Given the description of an element on the screen output the (x, y) to click on. 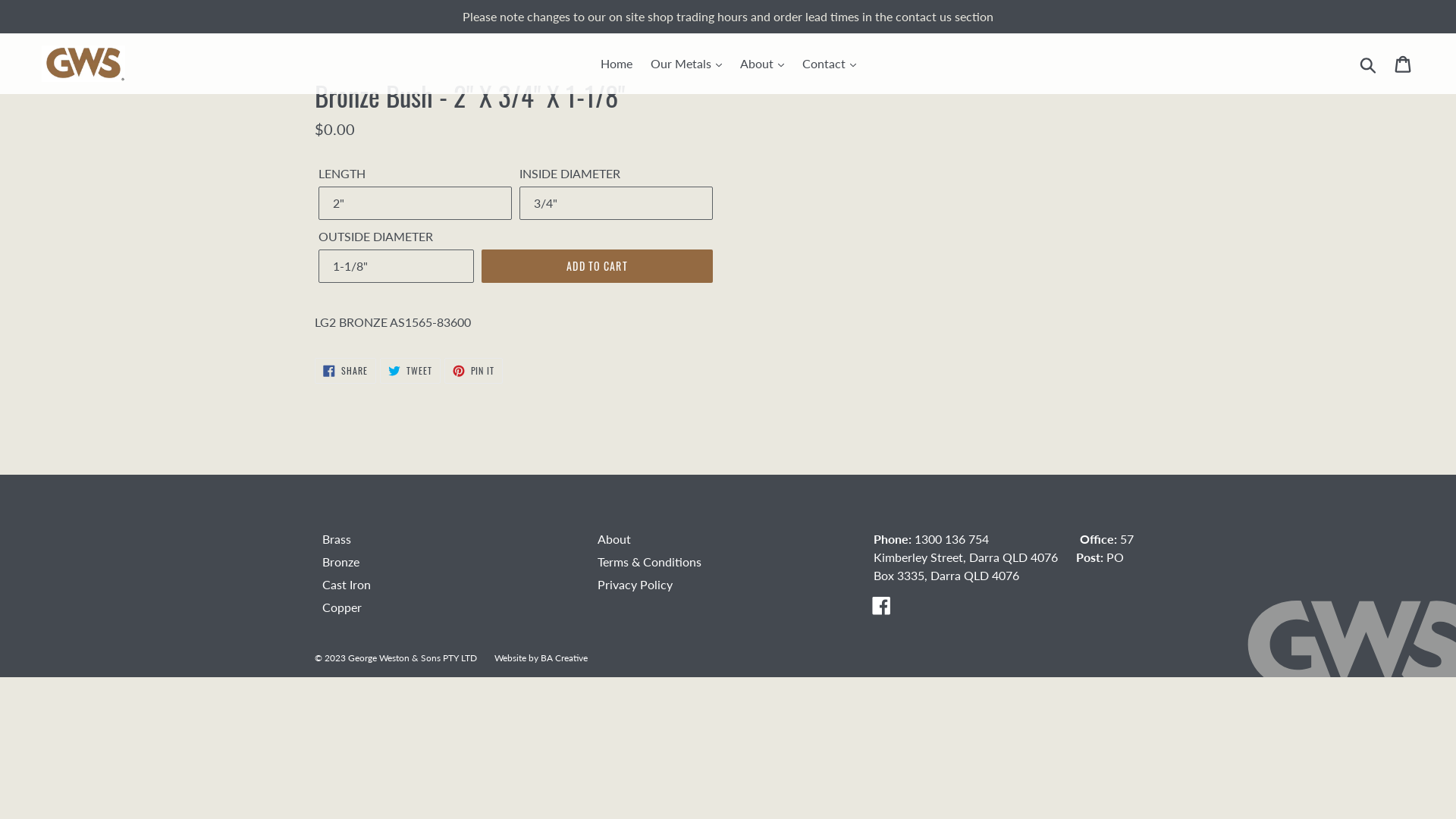
Brass Element type: text (336, 538)
Cart Element type: text (1403, 63)
Submit Element type: text (1368, 63)
TWEET
TWEET ON TWITTER Element type: text (409, 370)
Home Element type: text (616, 63)
Privacy Policy Element type: text (634, 584)
About Element type: text (613, 538)
Cast Iron Element type: text (346, 584)
ADD TO CART Element type: text (596, 265)
Terms & Conditions Element type: text (649, 561)
BA Creative Element type: text (563, 657)
Facebook Element type: text (881, 605)
PIN IT
PIN ON PINTEREST Element type: text (473, 370)
Bronze Element type: text (340, 561)
Copper Element type: text (341, 606)
George Weston & Sons PTY LTD Element type: text (412, 657)
SHARE
SHARE ON FACEBOOK Element type: text (345, 370)
